Given the description of an element on the screen output the (x, y) to click on. 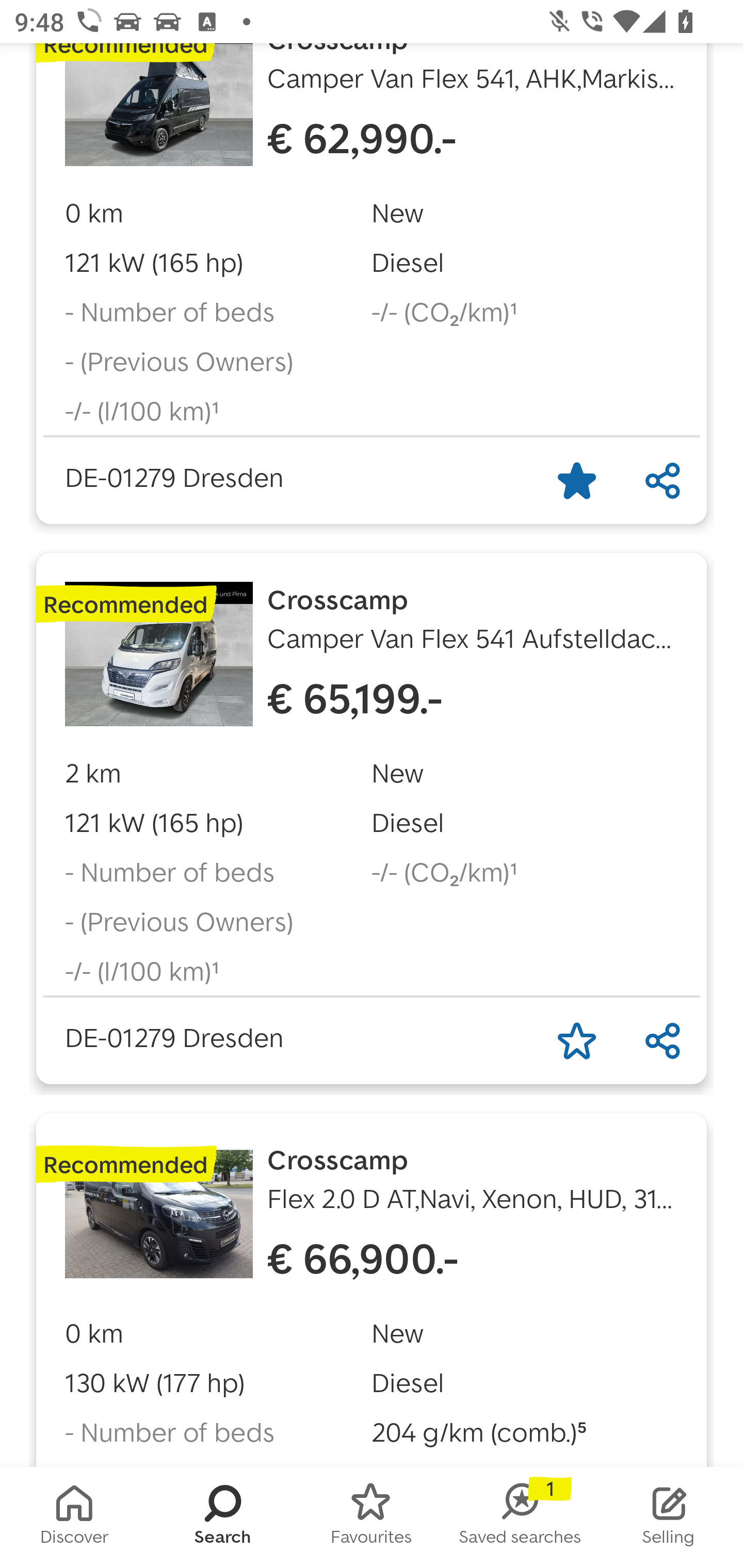
HOMESCREEN Discover (74, 1517)
SEARCH Search (222, 1517)
FAVORITES Favourites (371, 1517)
SAVED_SEARCHES Saved searches 1 (519, 1517)
STOCK_LIST Selling (668, 1517)
